Given the description of an element on the screen output the (x, y) to click on. 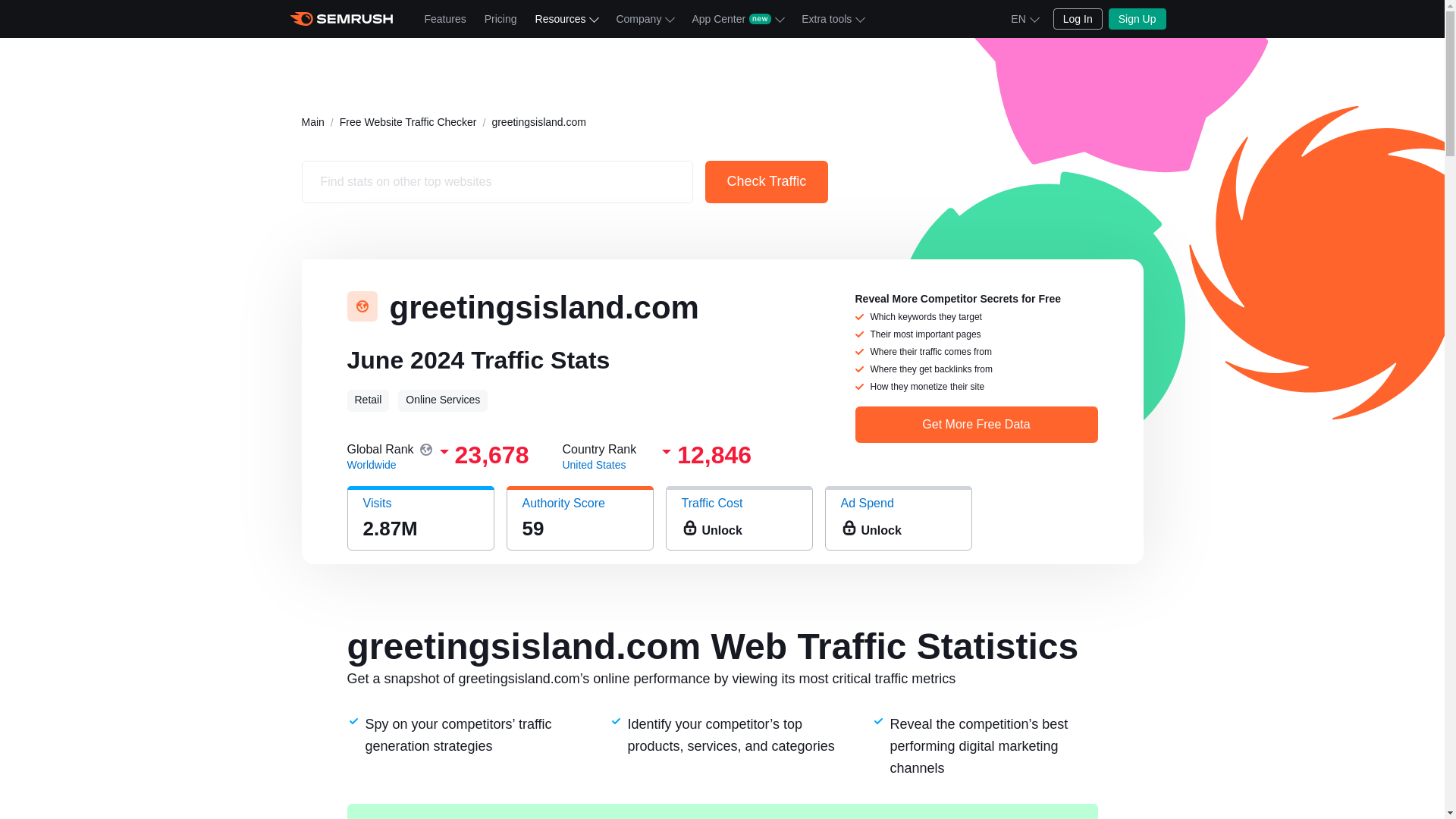
Pricing (500, 18)
Company (644, 18)
App Center (737, 18)
Extra tools (832, 18)
Features (445, 18)
Resources (566, 18)
